Given the description of an element on the screen output the (x, y) to click on. 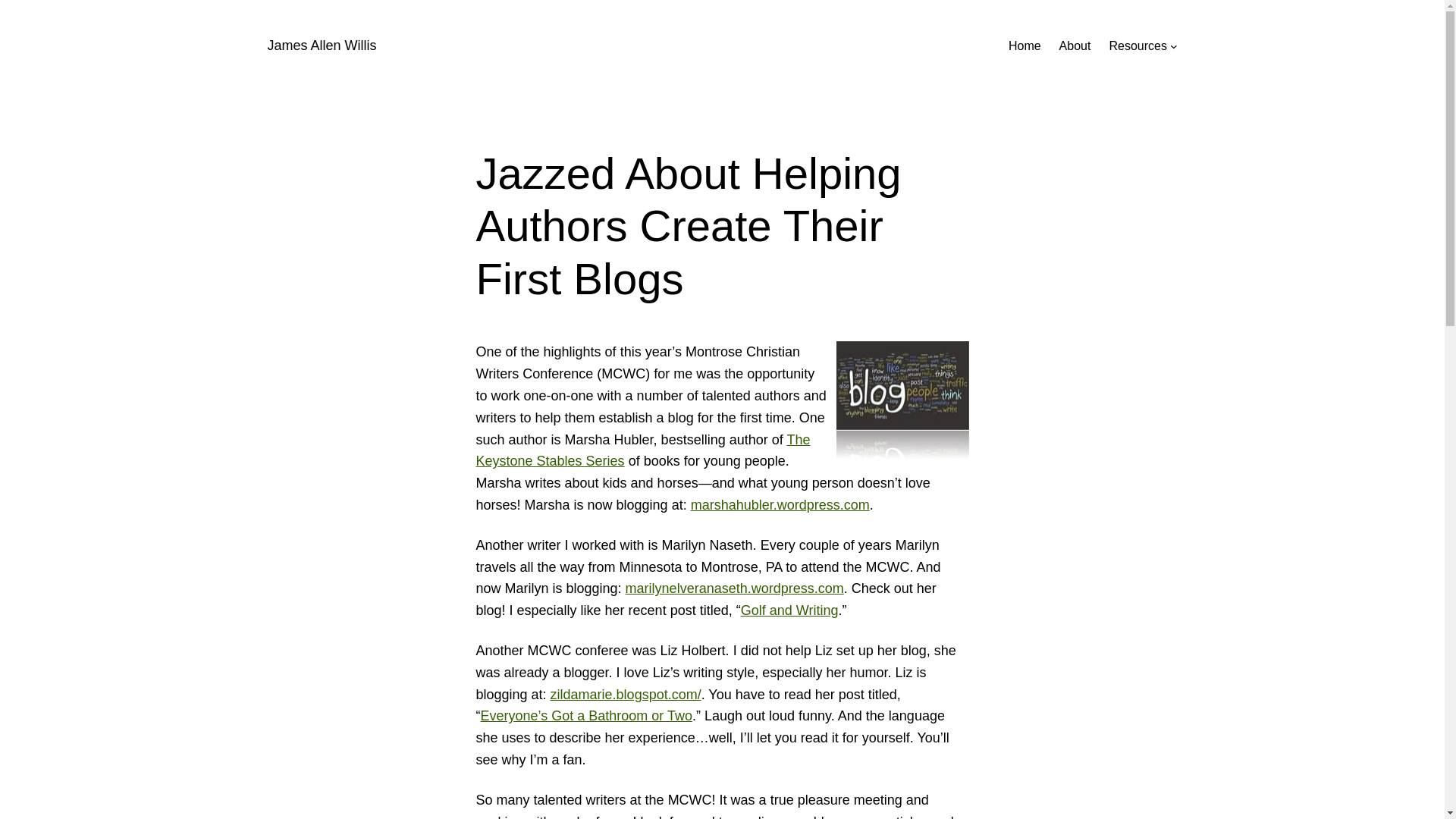
Resources (1137, 46)
blog (901, 399)
Marilyn Naseth - Golf and Writing (789, 610)
James Allen Willis (320, 45)
About (1074, 46)
marshahubler.wordpress.com (779, 504)
Golf and Writing (789, 610)
marilynelveranaseth.wordpress.com (735, 588)
Home (1025, 46)
The Keystone Stables Series (643, 450)
